Given the description of an element on the screen output the (x, y) to click on. 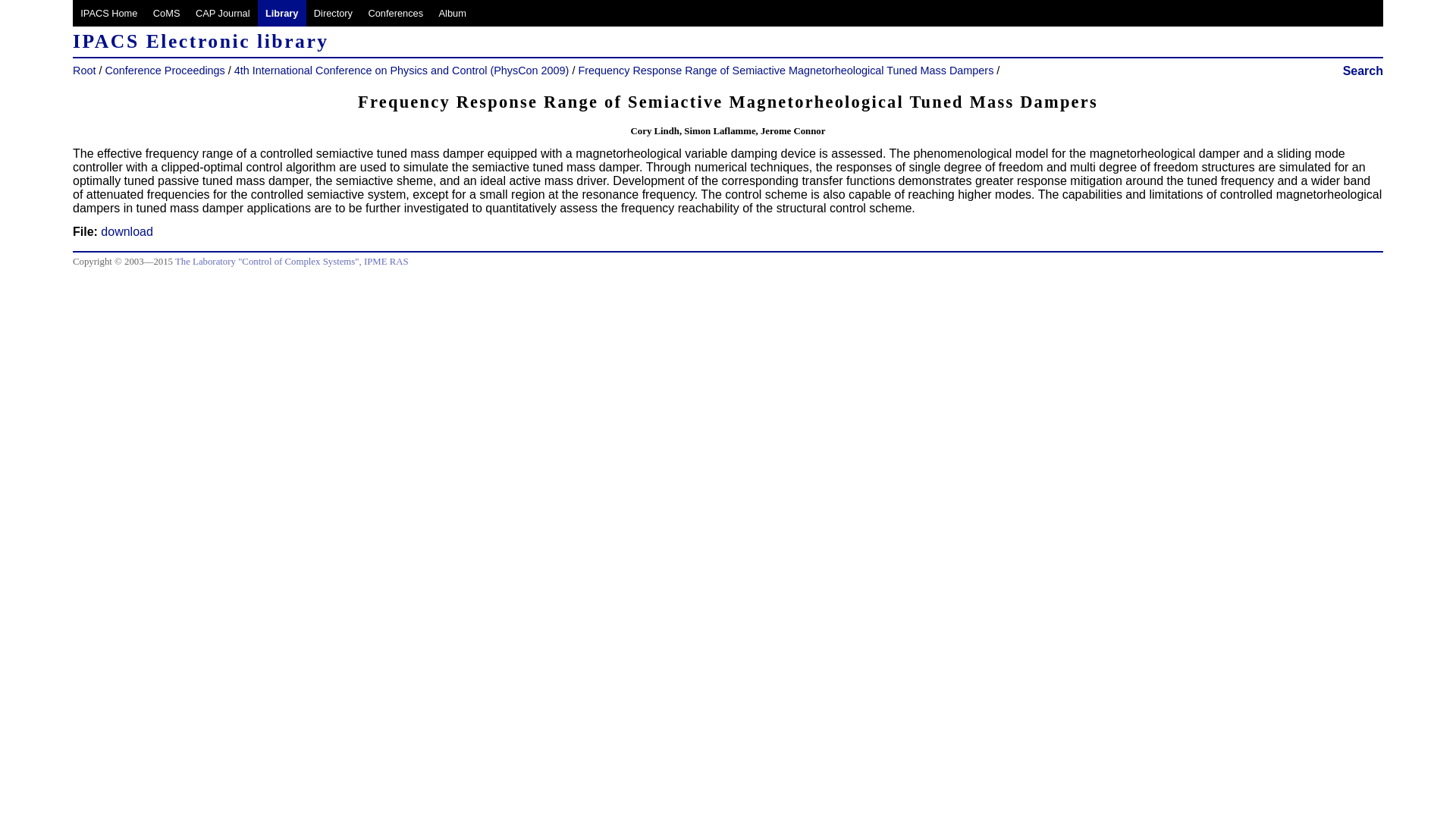
Conferences sites (394, 13)
The Laboratory "Control of Complex Systems", IPME RAS (291, 261)
Directory (333, 13)
CoMS (166, 13)
Cybernetics and Physics Journal (222, 13)
IPACS Electronic library (281, 13)
Library (281, 13)
International Physics and Control Society home page (108, 13)
Conferences (394, 13)
